Given the description of an element on the screen output the (x, y) to click on. 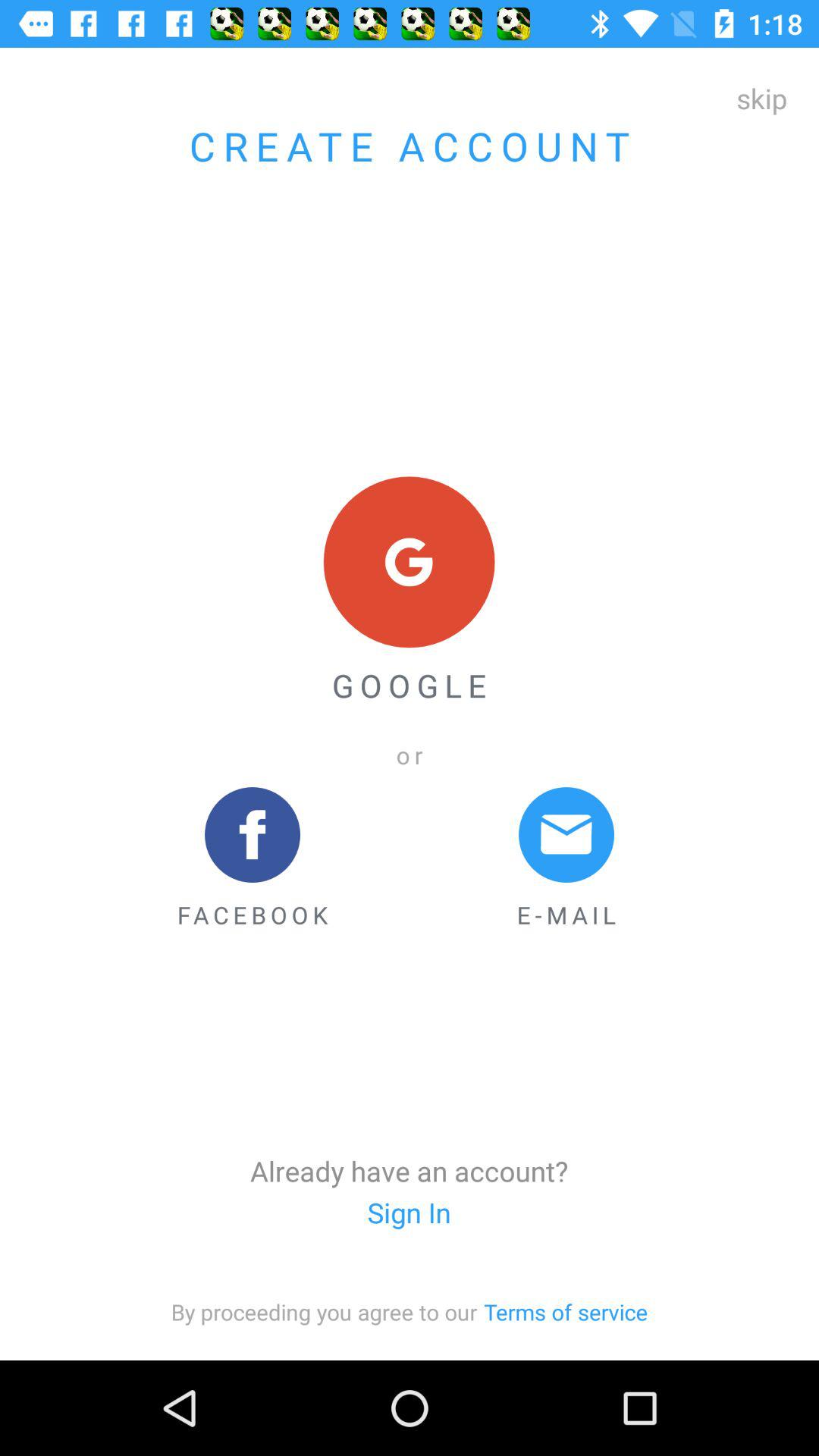
press the skip at the top right corner (761, 98)
